Given the description of an element on the screen output the (x, y) to click on. 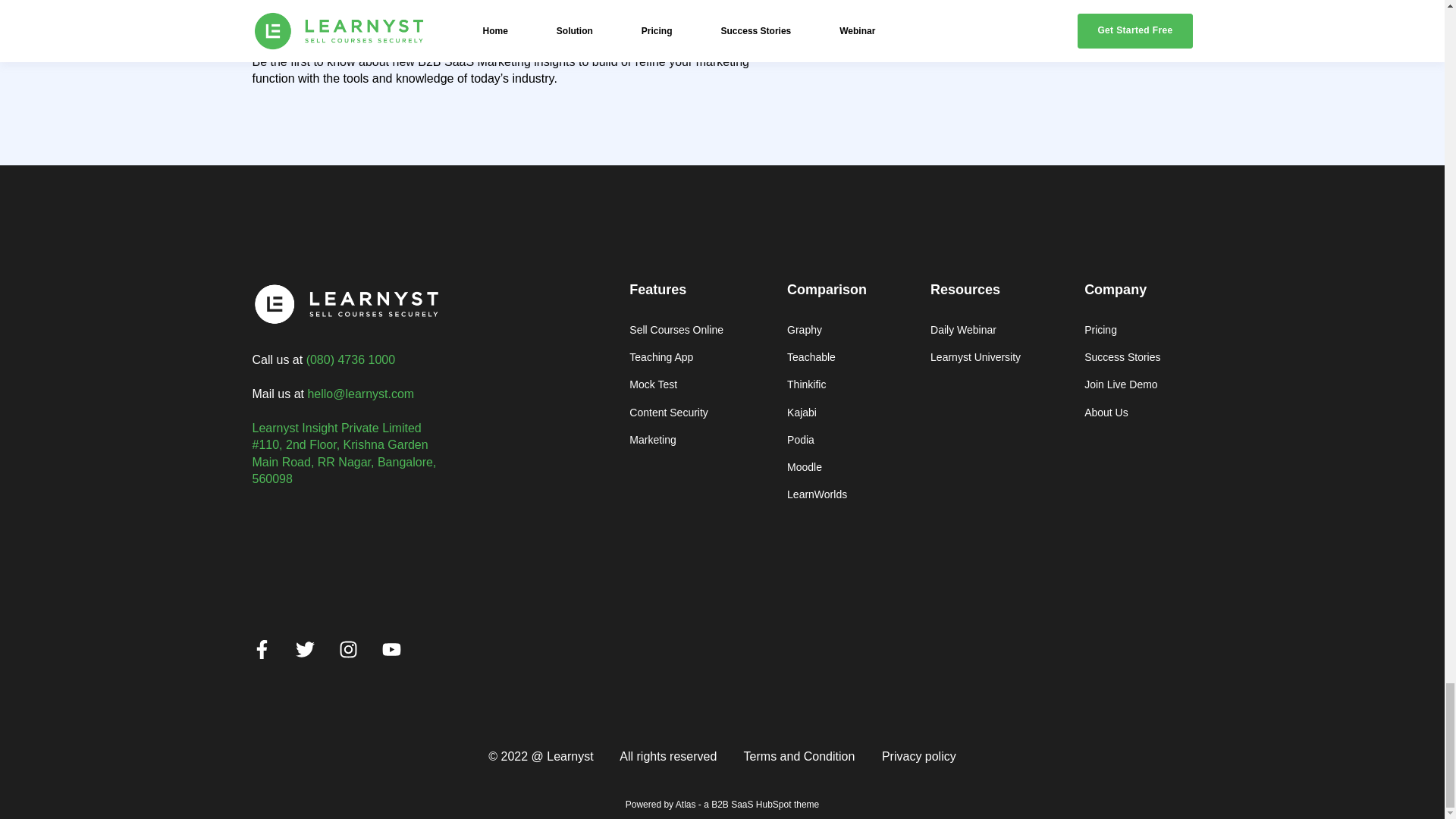
Sell Courses Online (675, 329)
Teaching App (675, 357)
Krishna Garden Main Road, (339, 452)
Learnyst Insight Private Limited (335, 427)
Content Security (675, 412)
Mock Test (675, 384)
RR Nagar, Bangalore, 560098 (343, 470)
Marketing (675, 440)
